Given the description of an element on the screen output the (x, y) to click on. 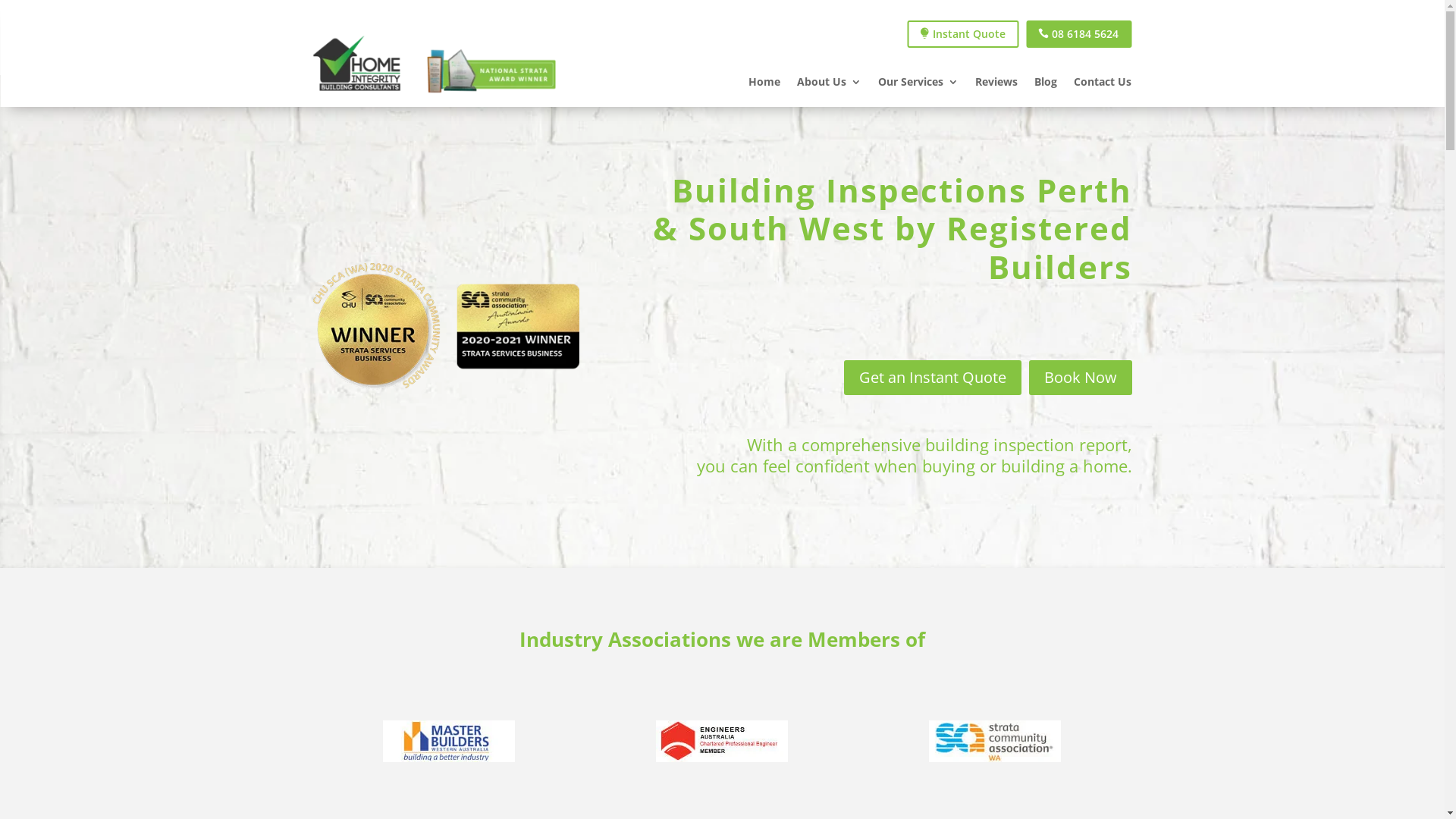
Master-Builders-Association-member-small-colored Element type: hover (448, 741)
08 6184 5624 Element type: text (1078, 33)
2021-HI-New-logo-and-awards-e1625462387672-1 Element type: hover (433, 64)
Contact Us Element type: text (1102, 84)
About Us Element type: text (829, 84)
Our Services Element type: text (918, 84)
Blog Element type: text (1045, 84)
Get an Instant Quote Element type: text (931, 377)
Book Now Element type: text (1079, 377)
engineers-australia-s-colored Element type: hover (721, 741)
Reviews Element type: text (996, 84)
award-2021-3-1 Element type: hover (445, 326)
strata-community-association-colored-small Element type: hover (994, 741)
Home Element type: text (764, 84)
Instant Quote Element type: text (962, 33)
